Given the description of an element on the screen output the (x, y) to click on. 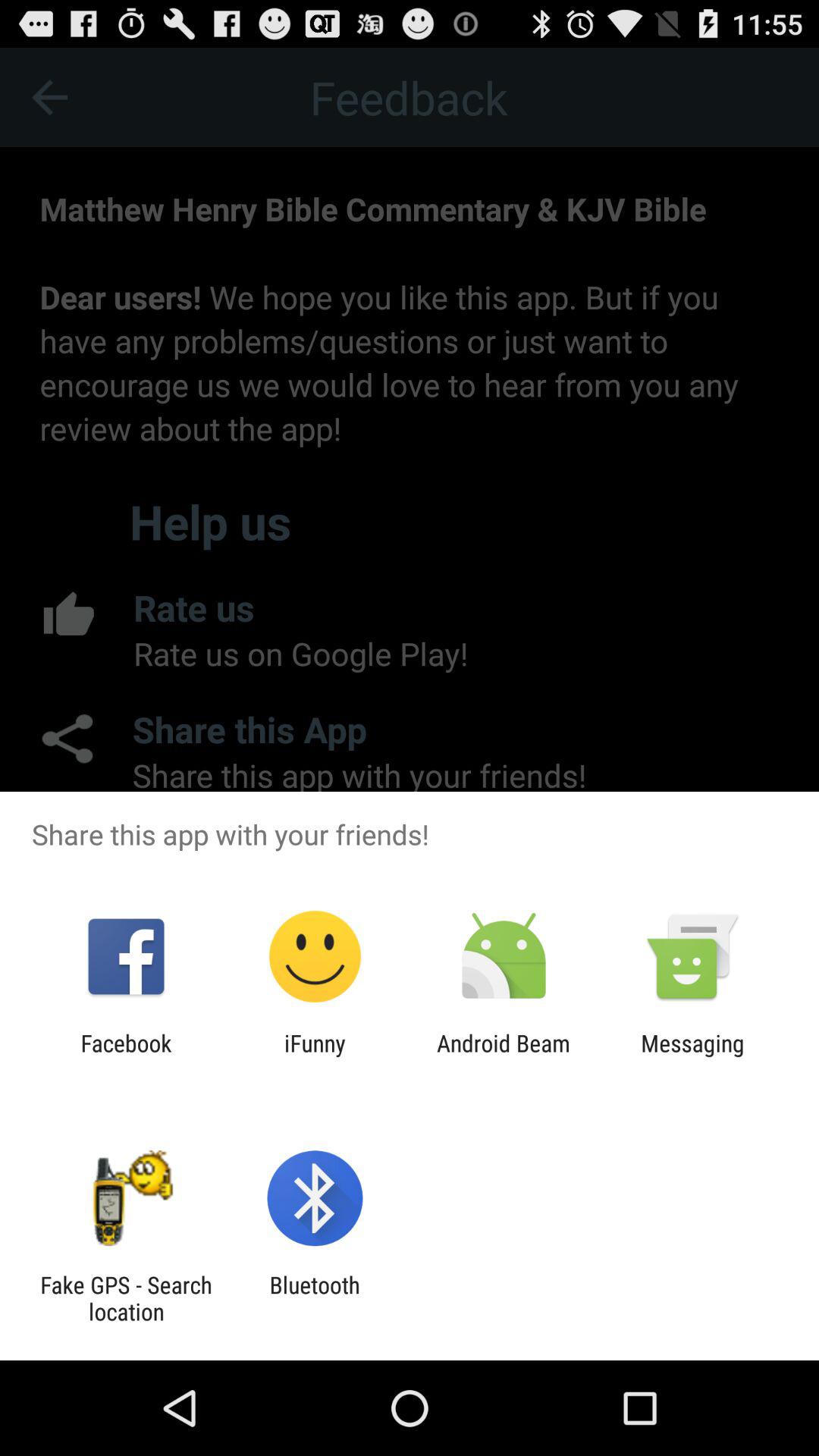
tap app next to the fake gps search (314, 1298)
